Given the description of an element on the screen output the (x, y) to click on. 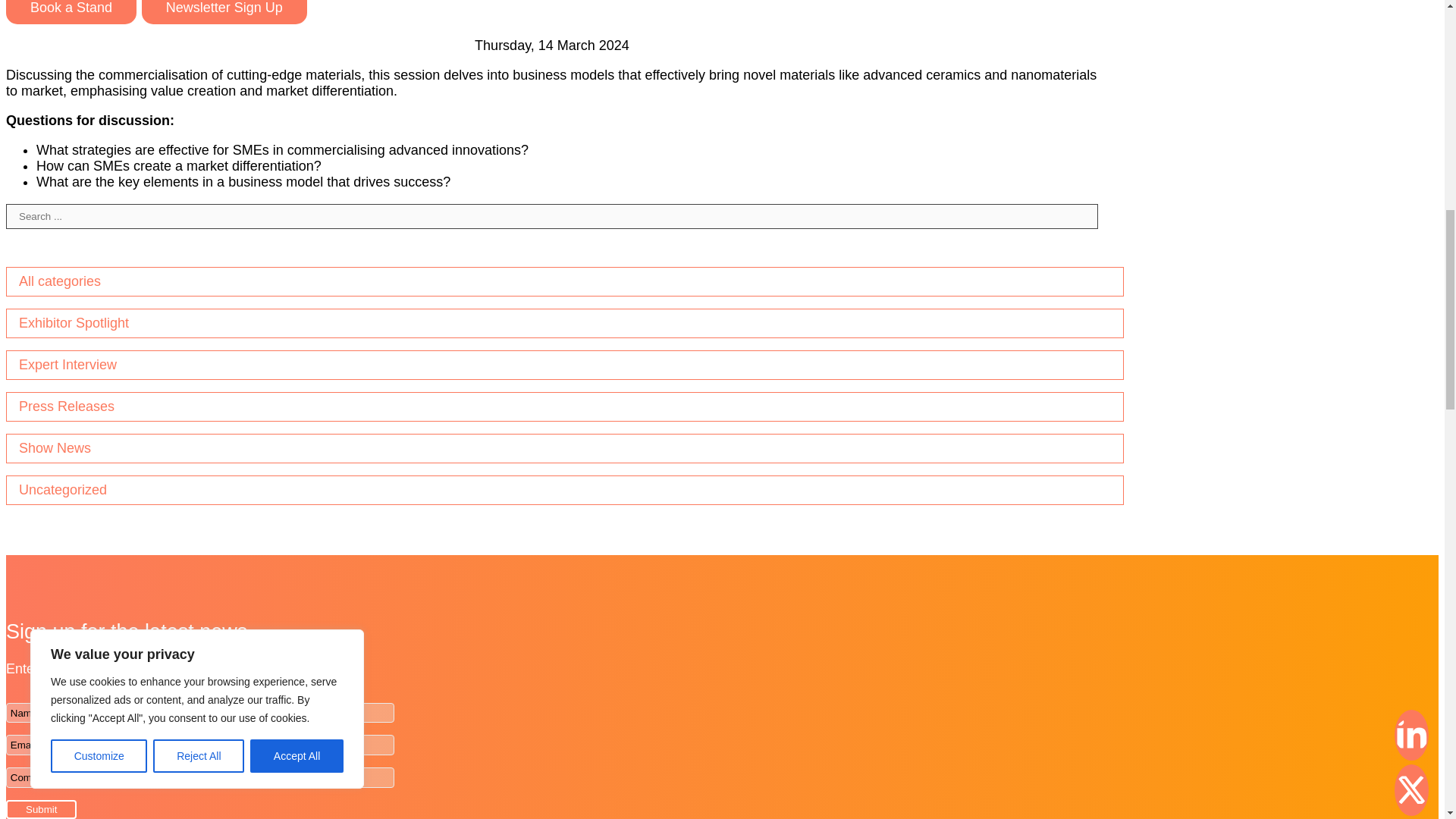
Submit (41, 809)
